Given the description of an element on the screen output the (x, y) to click on. 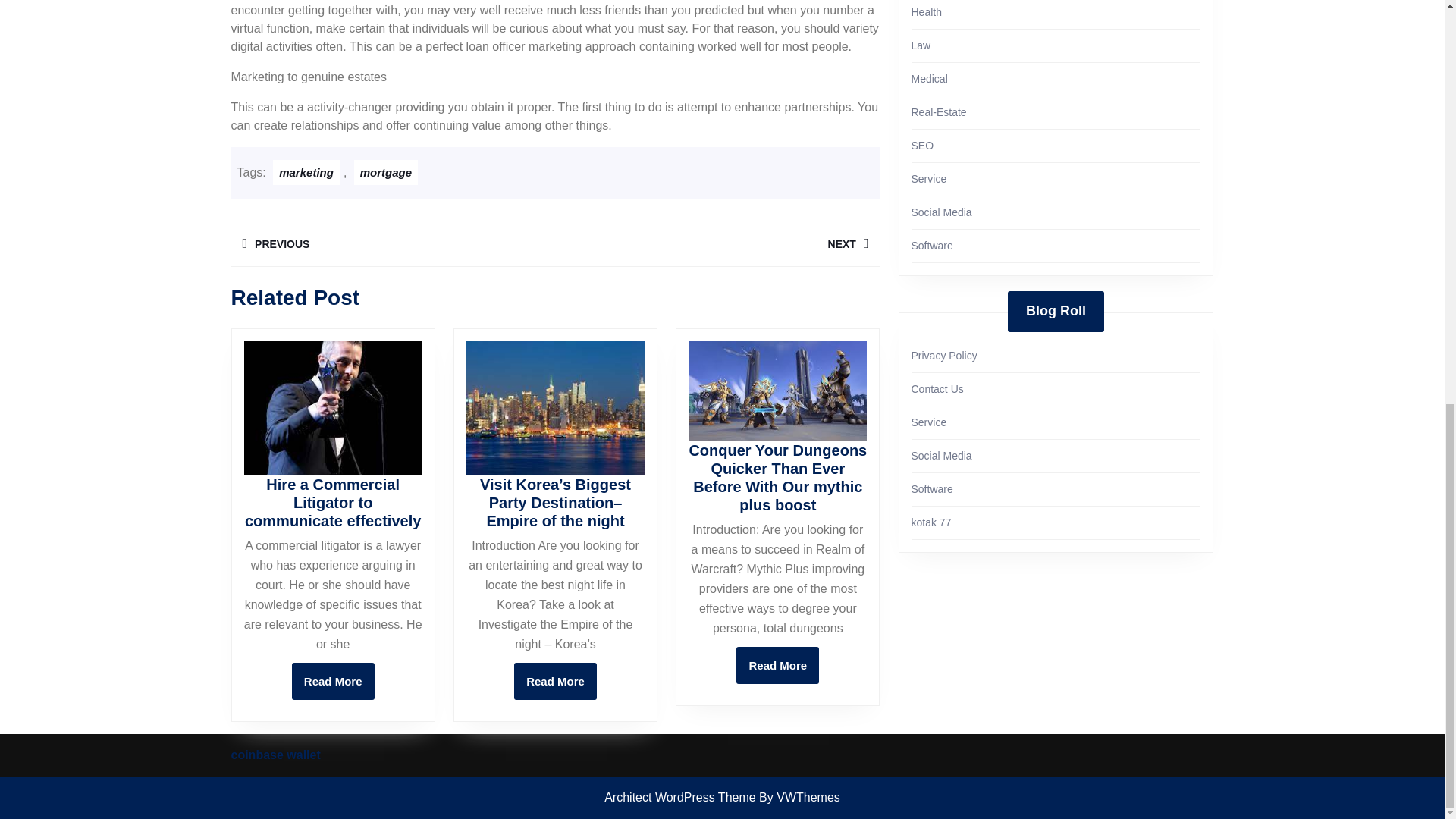
Health (926, 11)
Law (921, 45)
mortgage (716, 243)
